Given the description of an element on the screen output the (x, y) to click on. 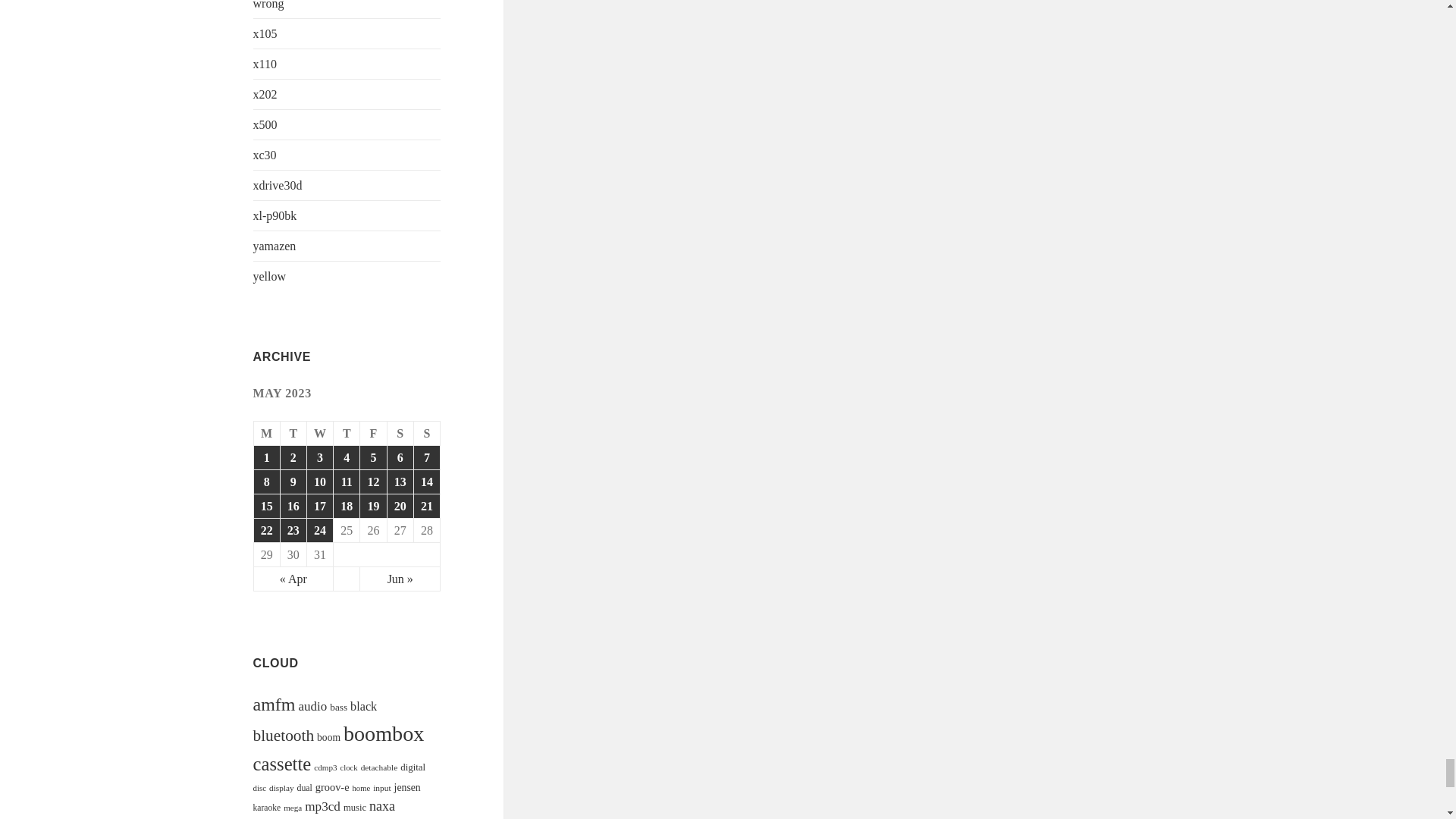
Wednesday (320, 433)
Tuesday (294, 433)
Victor CD Boombox RC-X750 (346, 457)
RX-DT35 CD boombox, Aiwa XG-E10 CD boombox (372, 457)
Thursday (346, 433)
Saturday (400, 433)
Sunday (427, 433)
Friday (373, 433)
Monday (267, 433)
